Given the description of an element on the screen output the (x, y) to click on. 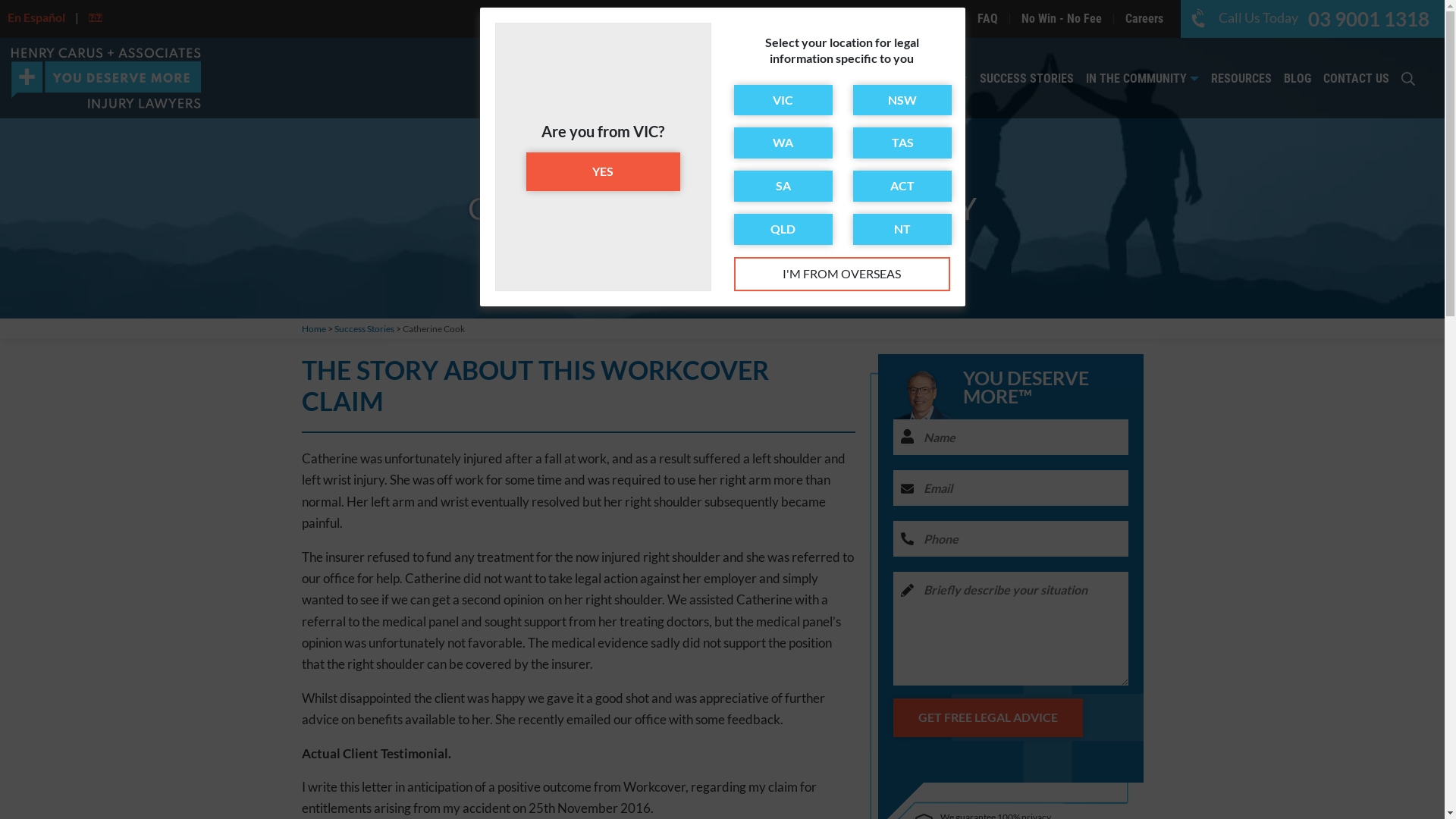
CONTACT US Element type: text (1356, 78)
Get Free Legal Advice Element type: text (987, 717)
Call Us Today 03 9001 1318 Element type: text (1312, 17)
RESOURCES Element type: text (1240, 78)
OUR PEOPLE Element type: text (929, 78)
Success Stories Element type: text (363, 328)
FAQ Element type: text (987, 18)
LEGAL SERVICES Element type: text (830, 78)
SUCCESS STORIES Element type: text (1026, 78)
Careers Element type: text (1144, 18)
BLOG Element type: text (1297, 78)
IN THE COMMUNITY Element type: text (1141, 78)
No Win - No Fee Element type: text (1061, 18)
Home Element type: text (313, 328)
